Given the description of an element on the screen output the (x, y) to click on. 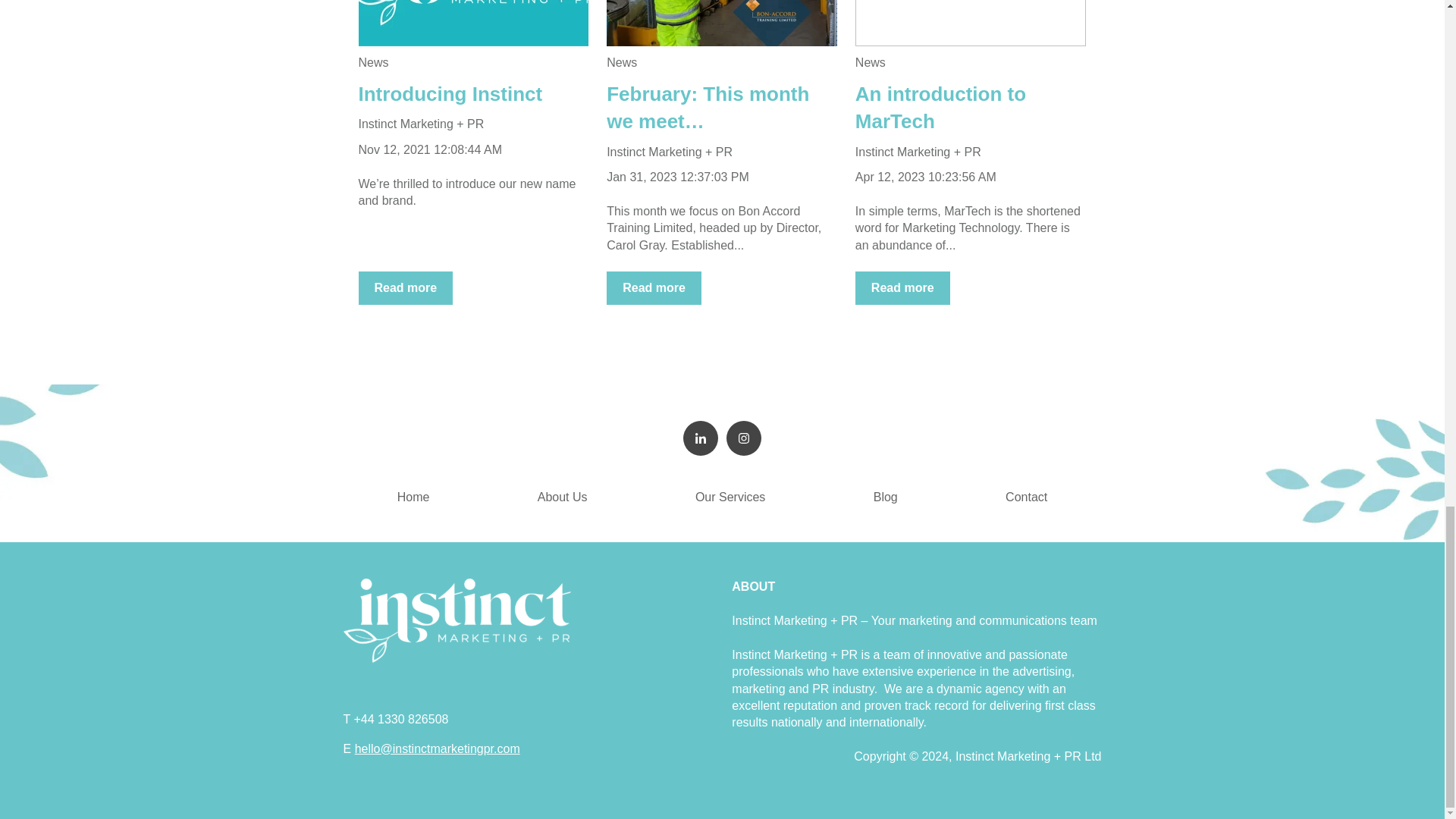
News (622, 62)
An introduction to MarTech (941, 107)
Instict White with Descriptor (456, 620)
News (870, 62)
Read more (903, 287)
News (373, 62)
Introducing Instinct (449, 93)
Read more (405, 287)
Read more (654, 287)
